Given the description of an element on the screen output the (x, y) to click on. 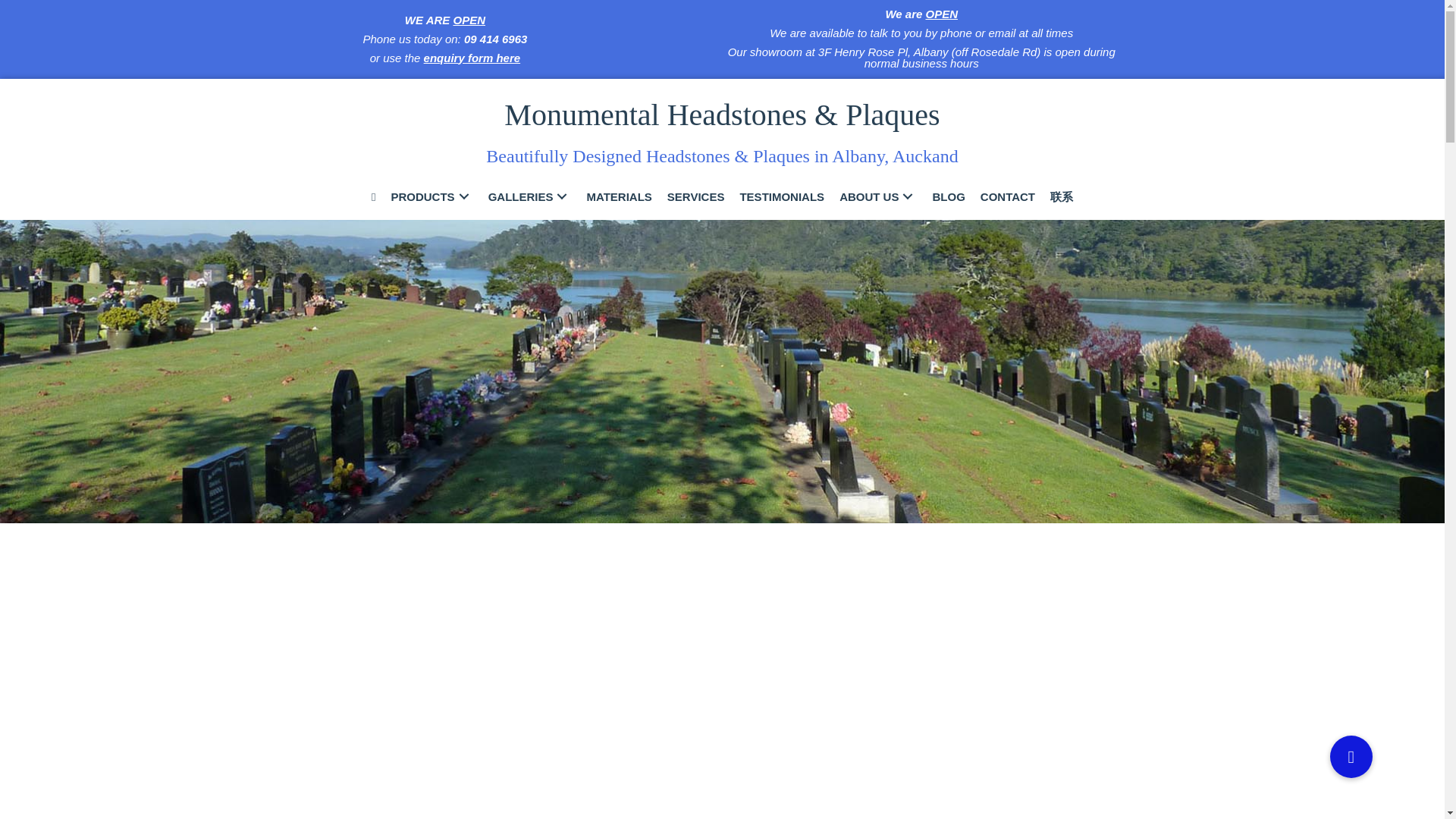
PRODUCTS (431, 196)
ABOUT US (877, 196)
MATERIALS (618, 196)
CONTACT (1007, 196)
TESTIMONIALS (781, 196)
SERVICES (695, 196)
BLOG (948, 196)
GALLERIES (529, 196)
enquiry form here (472, 57)
